Given the description of an element on the screen output the (x, y) to click on. 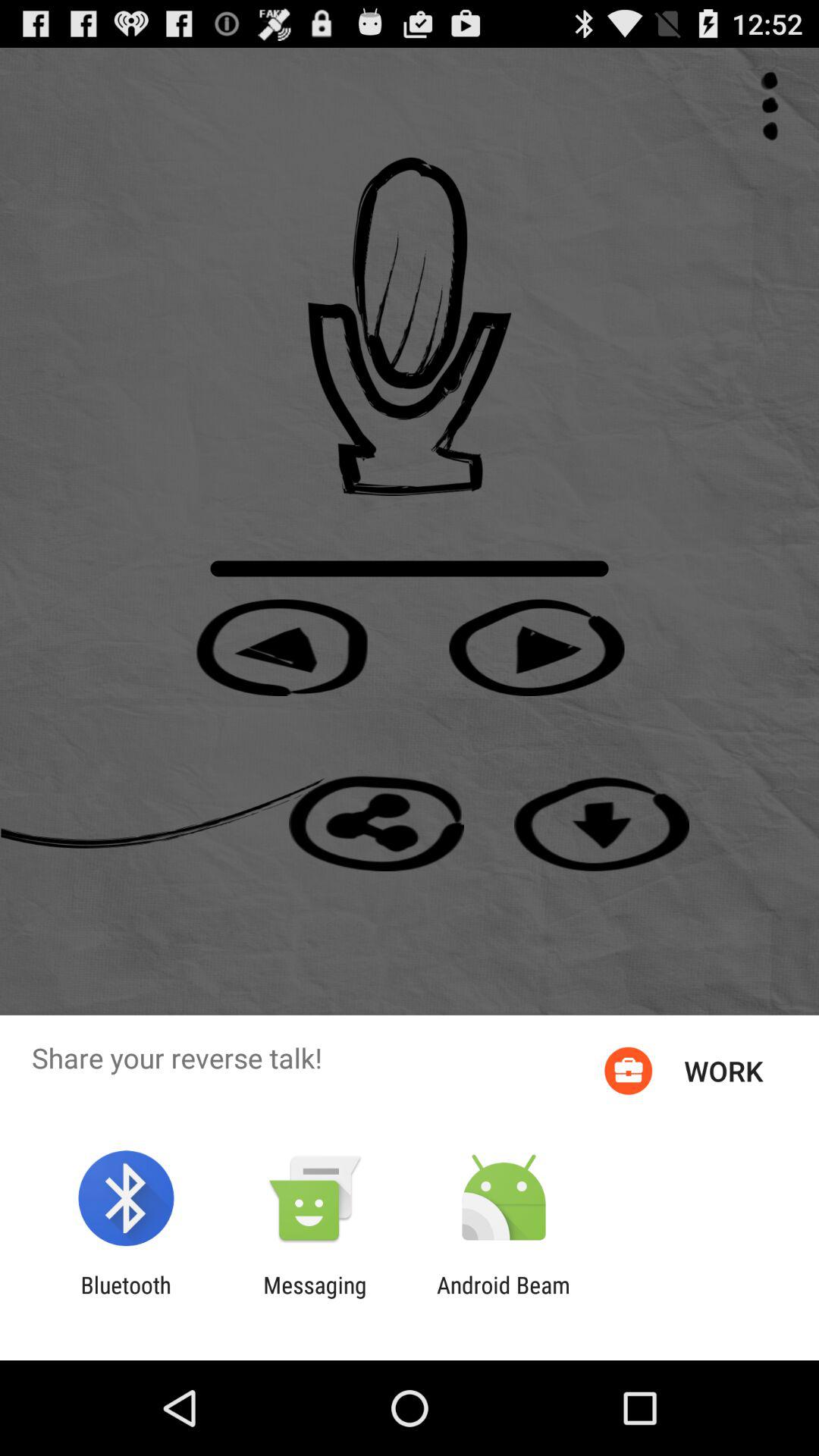
scroll until android beam app (503, 1298)
